Given the description of an element on the screen output the (x, y) to click on. 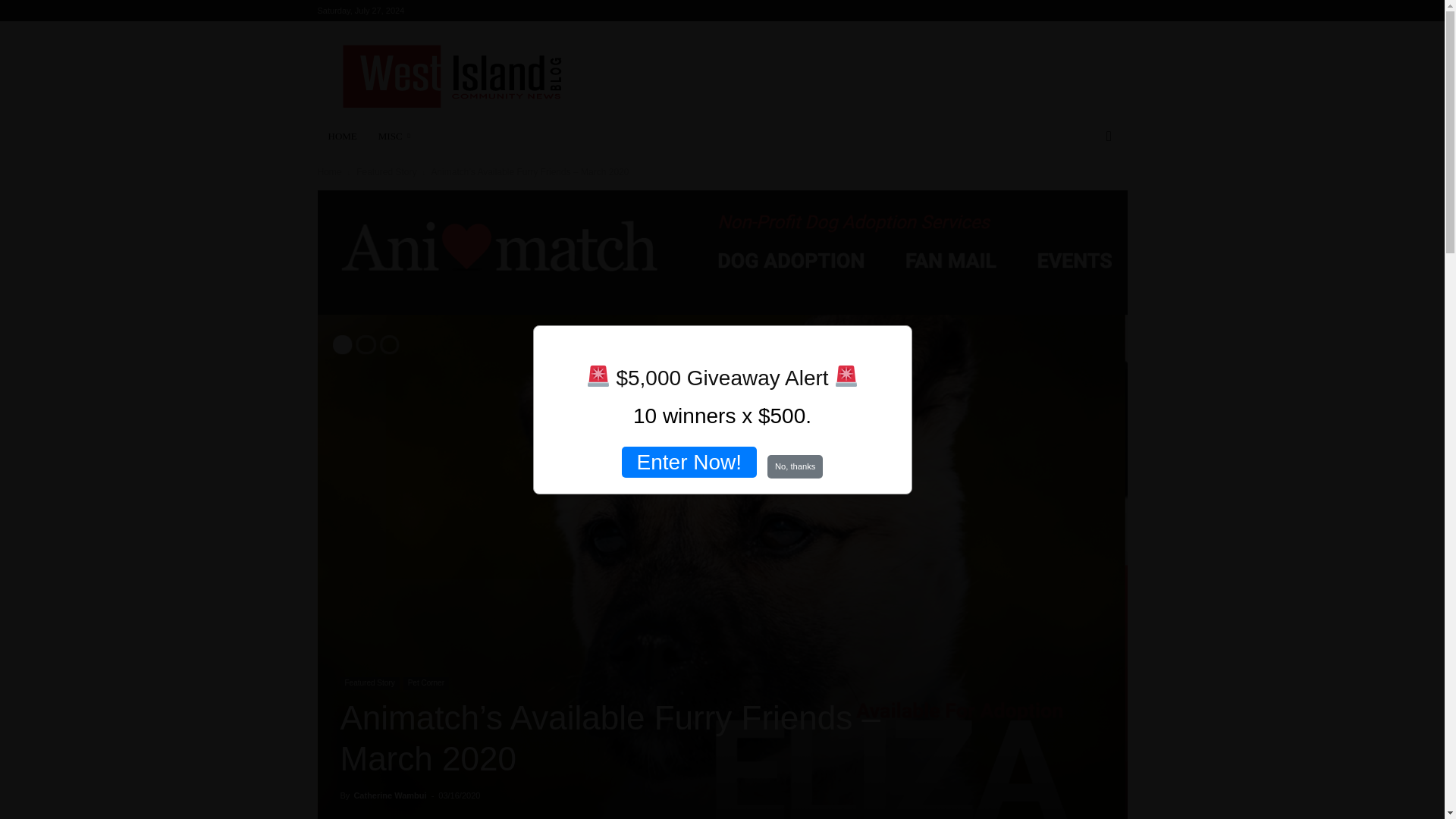
Catherine Wambui (389, 795)
Home (328, 172)
HOME (341, 135)
Featured Story (368, 683)
Search (1085, 197)
Pet Corner (425, 683)
MISC (397, 135)
Featured Story (386, 172)
West Island Blog (450, 76)
View all posts in Featured Story (386, 172)
